Given the description of an element on the screen output the (x, y) to click on. 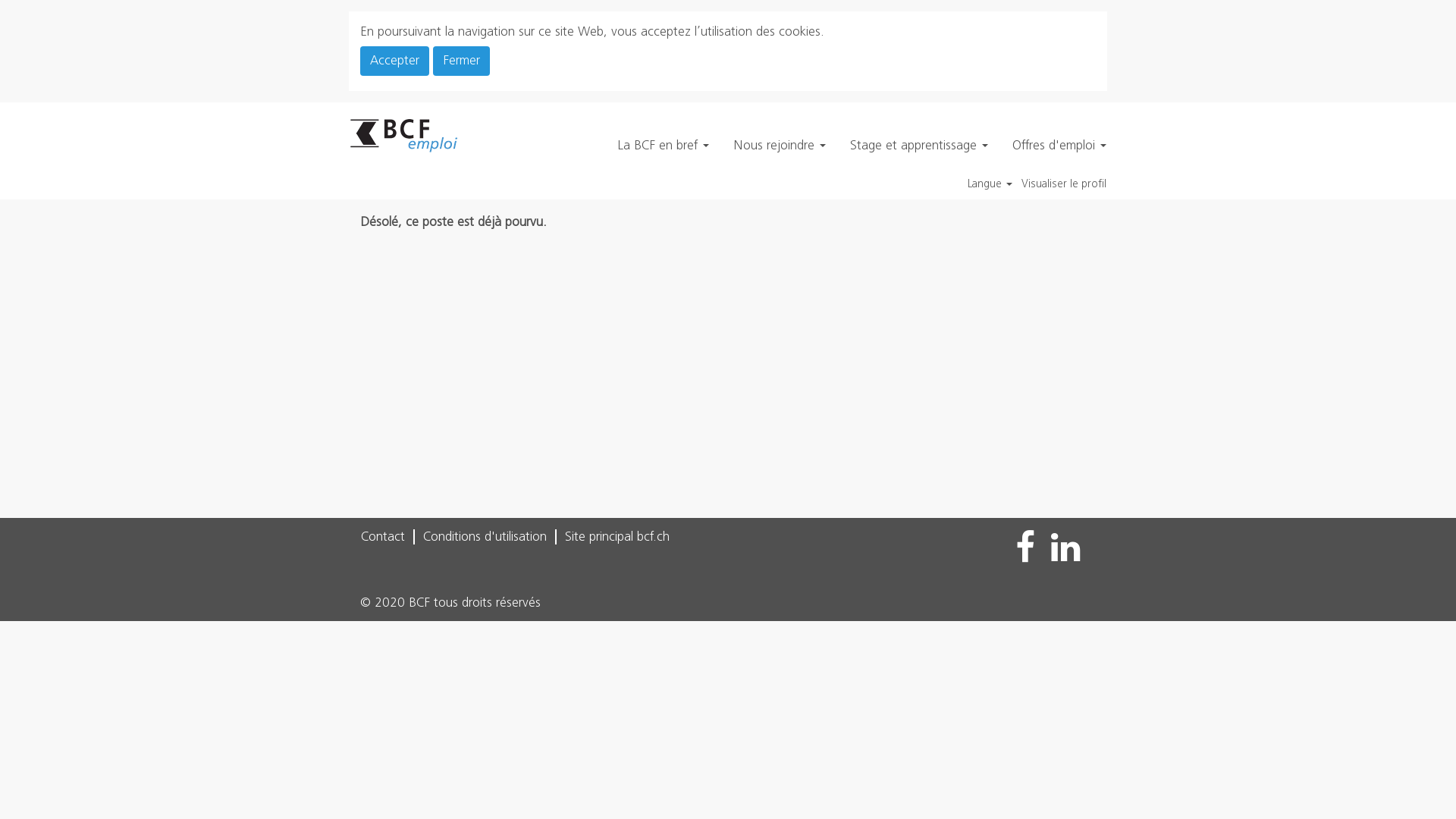
linkedin Element type: hover (1065, 548)
Langue Element type: text (989, 183)
Contact Element type: text (382, 536)
BCF emploi Element type: hover (403, 135)
Conditions d'utilisation Element type: text (484, 536)
Accepter Element type: text (394, 61)
Site principal bcf.ch Element type: text (617, 536)
Fermer Element type: text (461, 61)
facebook Element type: hover (1024, 548)
Stage et apprentissage Element type: text (918, 145)
La BCF en bref Element type: text (662, 145)
Visualiser le profil Element type: text (1063, 183)
Nous rejoindre Element type: text (779, 145)
Offres d'emploi Element type: text (1059, 145)
